Given the description of an element on the screen output the (x, y) to click on. 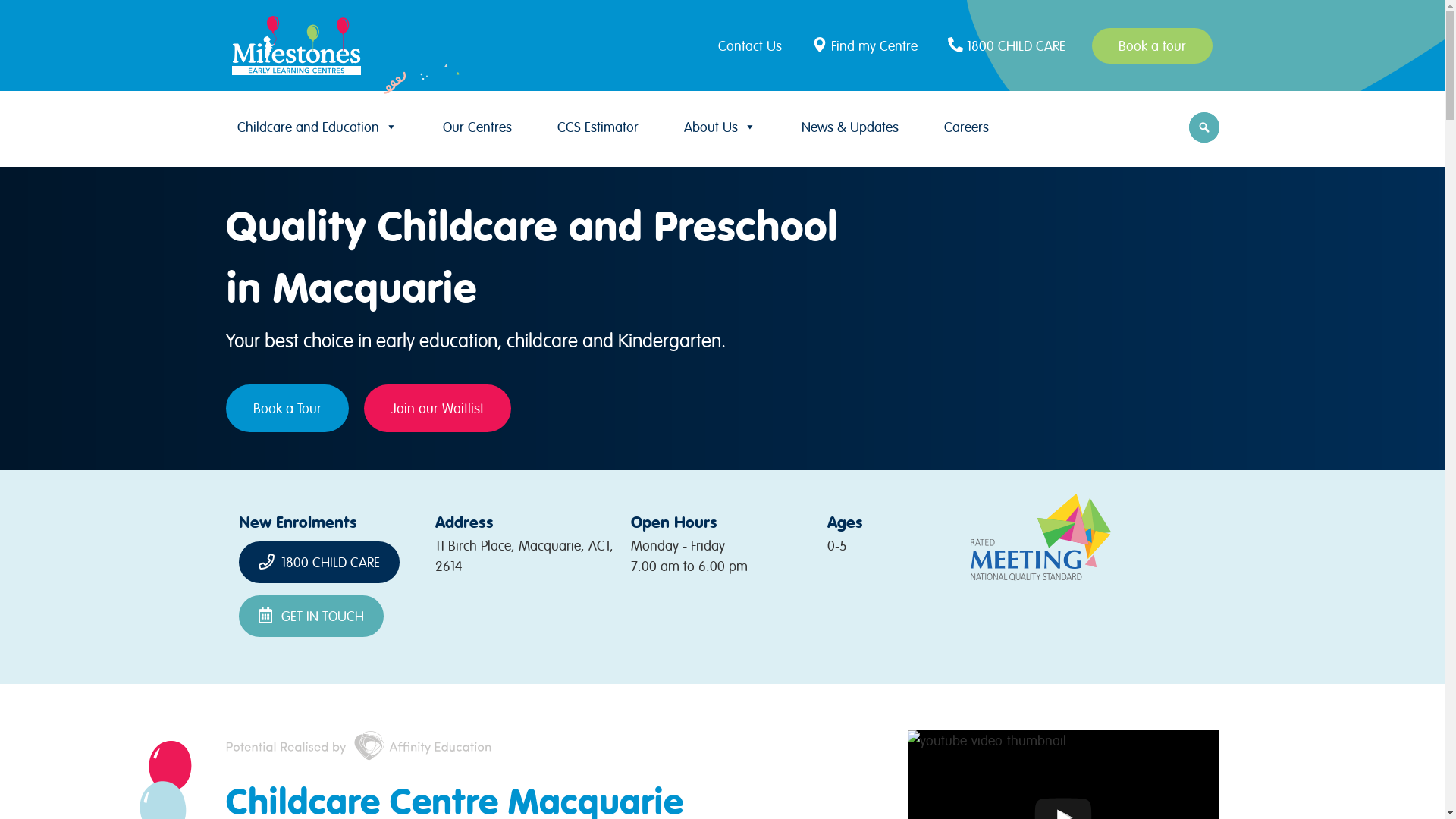
GET IN TOUCH Element type: text (310, 616)
Book a Tour Element type: text (286, 408)
News & Updates Element type: text (849, 127)
Childcare and Education Element type: text (316, 127)
CCS Estimator Element type: text (597, 127)
Contact Us Element type: text (753, 44)
Book a tour Element type: text (1152, 44)
Careers Element type: text (965, 127)
Find my Centre Element type: text (866, 44)
potential-realised-by-affinity-education Element type: hover (358, 745)
Our Centres Element type: text (477, 127)
Join our Waitlist Element type: text (437, 408)
Search Element type: text (15, 17)
1800 CHILD CARE Element type: text (318, 562)
1800 CHILD CARE Element type: text (1008, 44)
About Us Element type: text (719, 127)
